Given the description of an element on the screen output the (x, y) to click on. 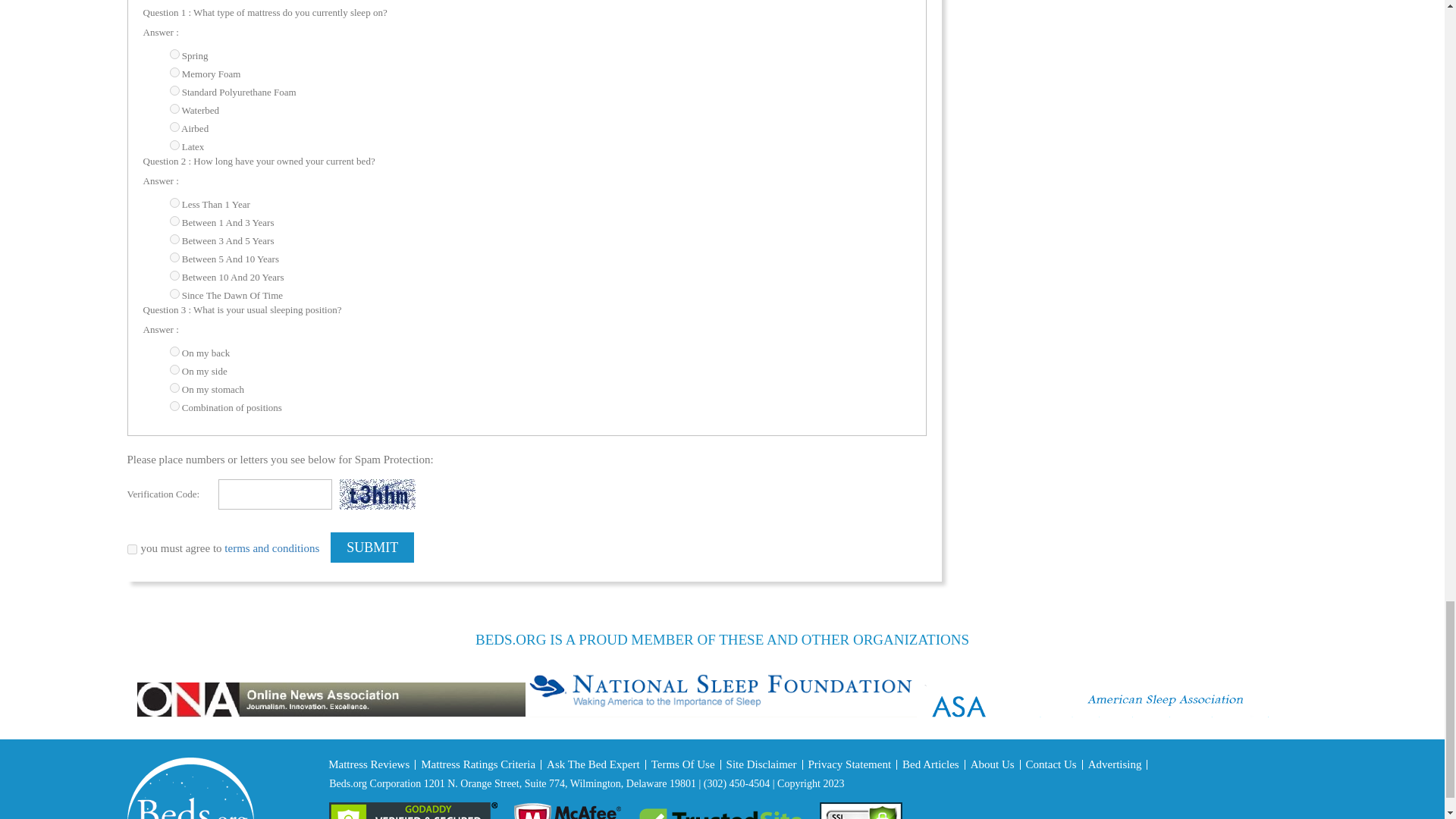
19 (174, 221)
2 (174, 71)
20 (174, 239)
18 (174, 203)
4 (174, 126)
5 (174, 144)
1 (174, 53)
3 (174, 108)
24 (174, 90)
